Given the description of an element on the screen output the (x, y) to click on. 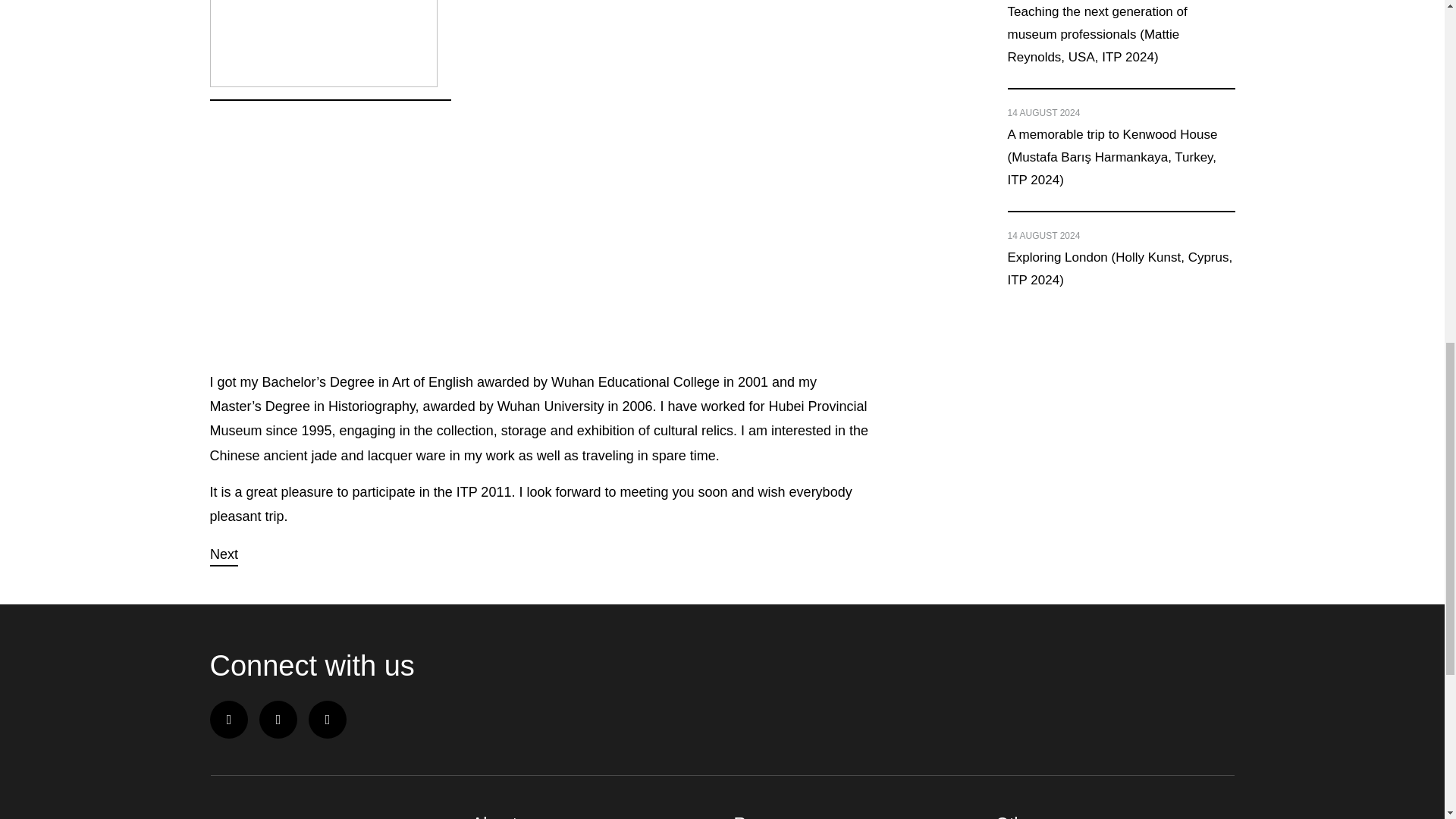
instagram (327, 719)
twitter (278, 719)
facebook (228, 719)
Next (223, 554)
